Given the description of an element on the screen output the (x, y) to click on. 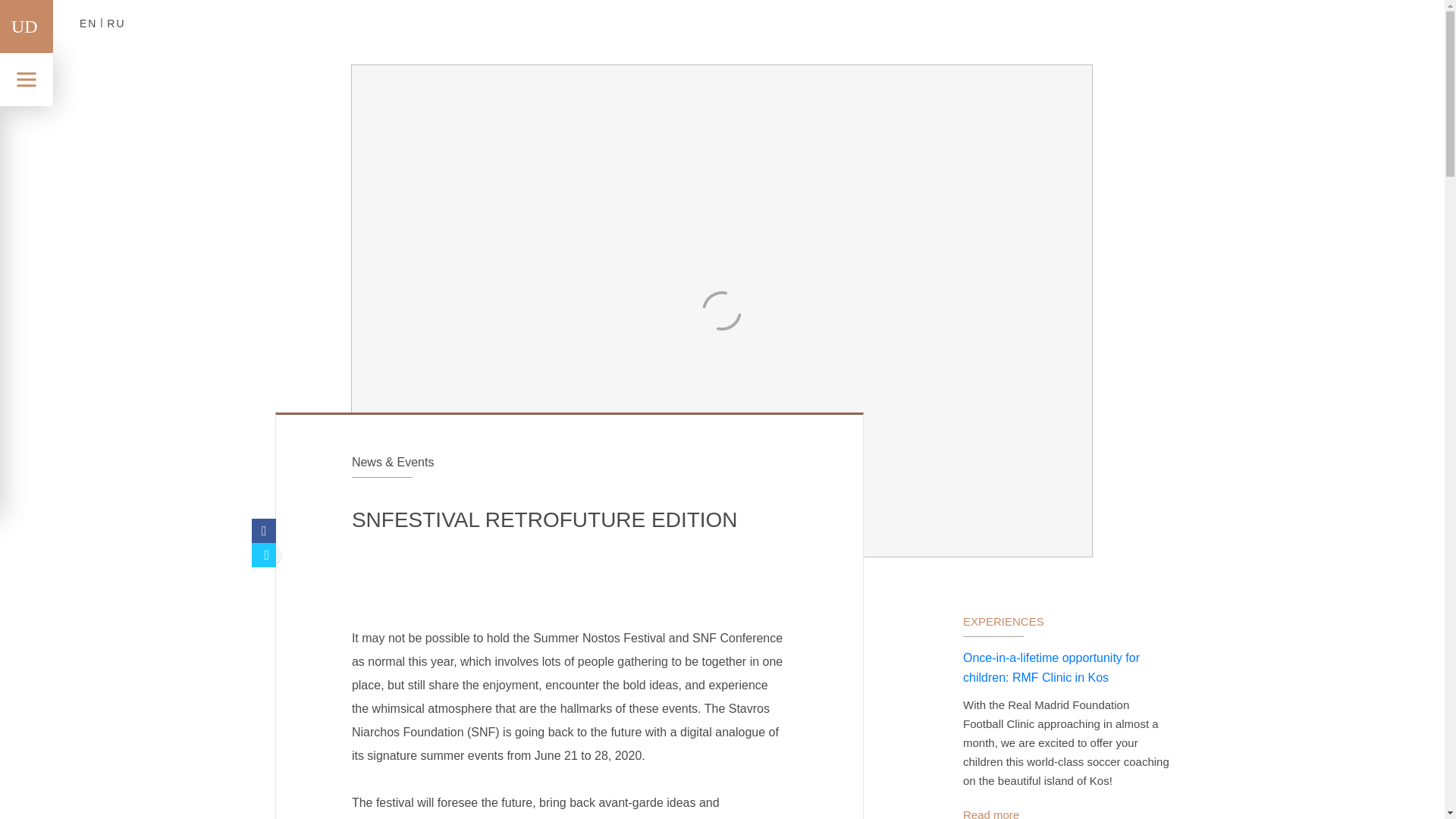
UD (24, 26)
Read more (990, 813)
EXPERIENCES (1002, 621)
